Given the description of an element on the screen output the (x, y) to click on. 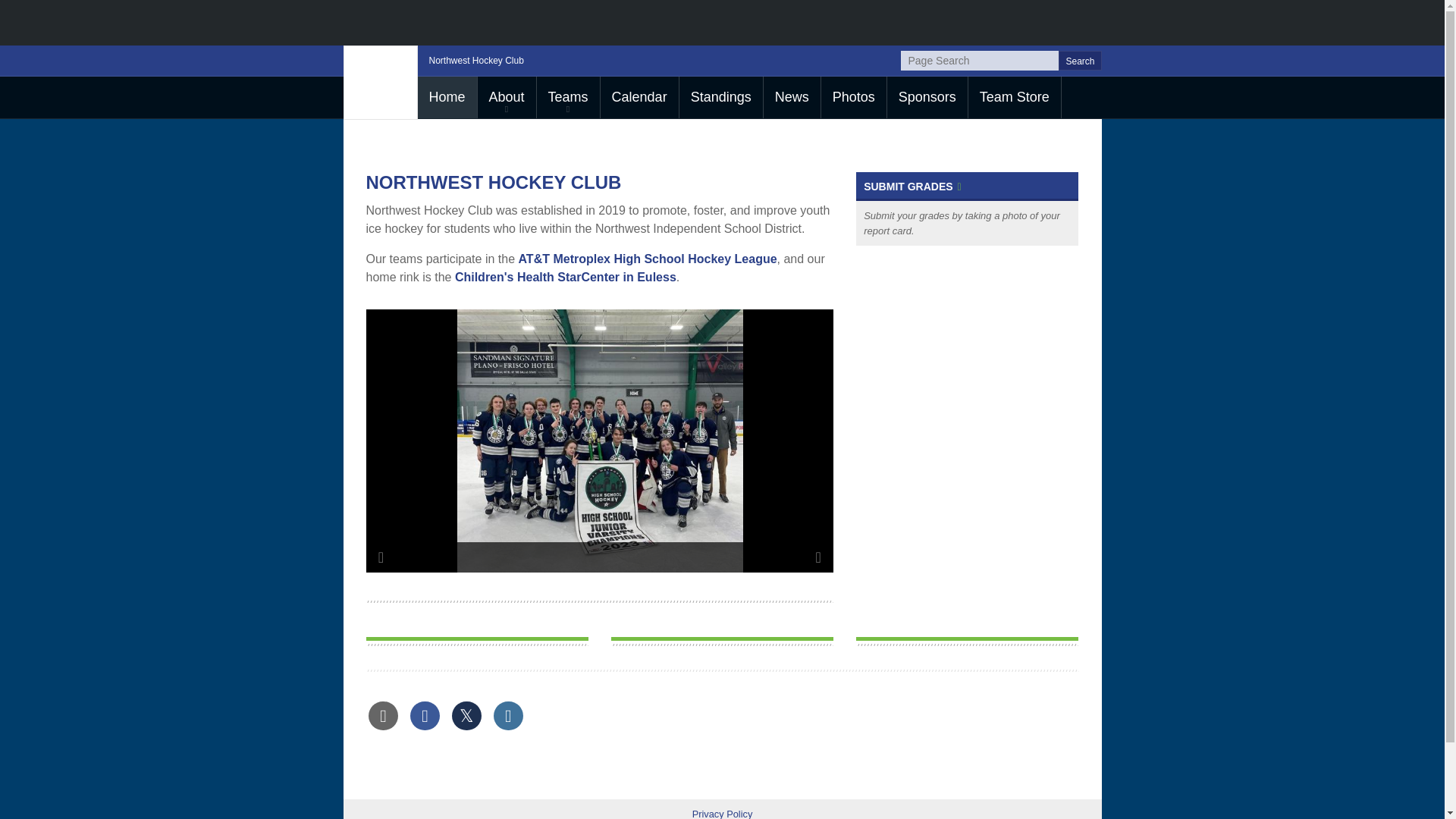
Standings (720, 96)
About (506, 96)
click to go to 'News' (791, 96)
Calendar (638, 96)
click to go to 'Calendar' (638, 96)
click to go to 'About NHC' (506, 96)
Standings (720, 96)
click to go to 'Teams' (568, 96)
Teams (568, 96)
click to go to 'Photo Gallery' (853, 96)
